Given the description of an element on the screen output the (x, y) to click on. 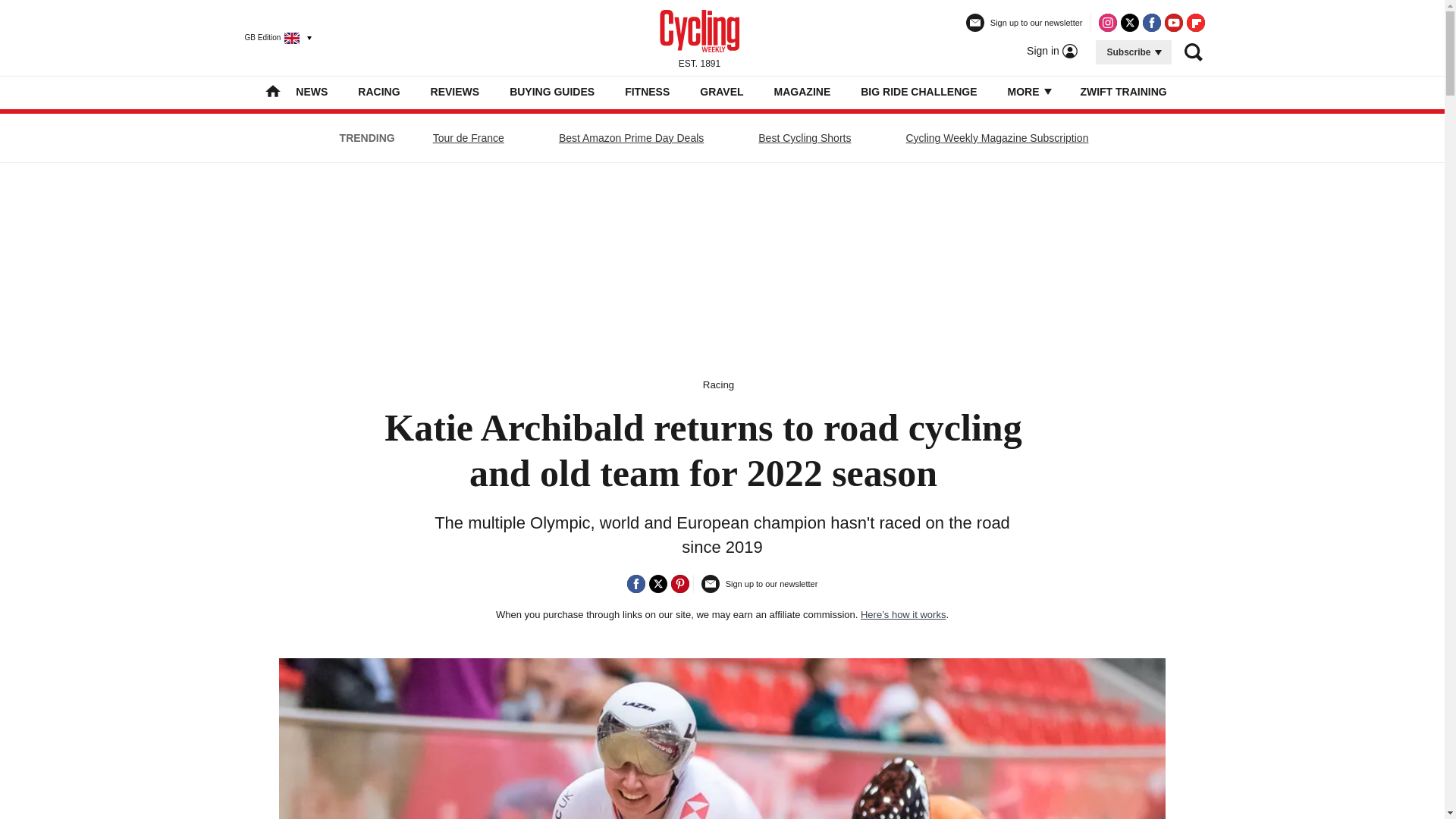
Tour de France (468, 137)
Cycling Weekly Magazine Subscription (996, 137)
FITNESS (646, 91)
NEWS (311, 91)
ZWIFT TRAINING (1123, 91)
Best Cycling Shorts (804, 137)
Best Amazon Prime Day Deals (631, 137)
Racing (719, 384)
RACING (378, 91)
GRAVEL (721, 91)
BIG RIDE CHALLENGE (918, 91)
GB Edition (271, 37)
Sign up to our newsletter (1024, 28)
MAGAZINE (802, 91)
REVIEWS (455, 91)
